Given the description of an element on the screen output the (x, y) to click on. 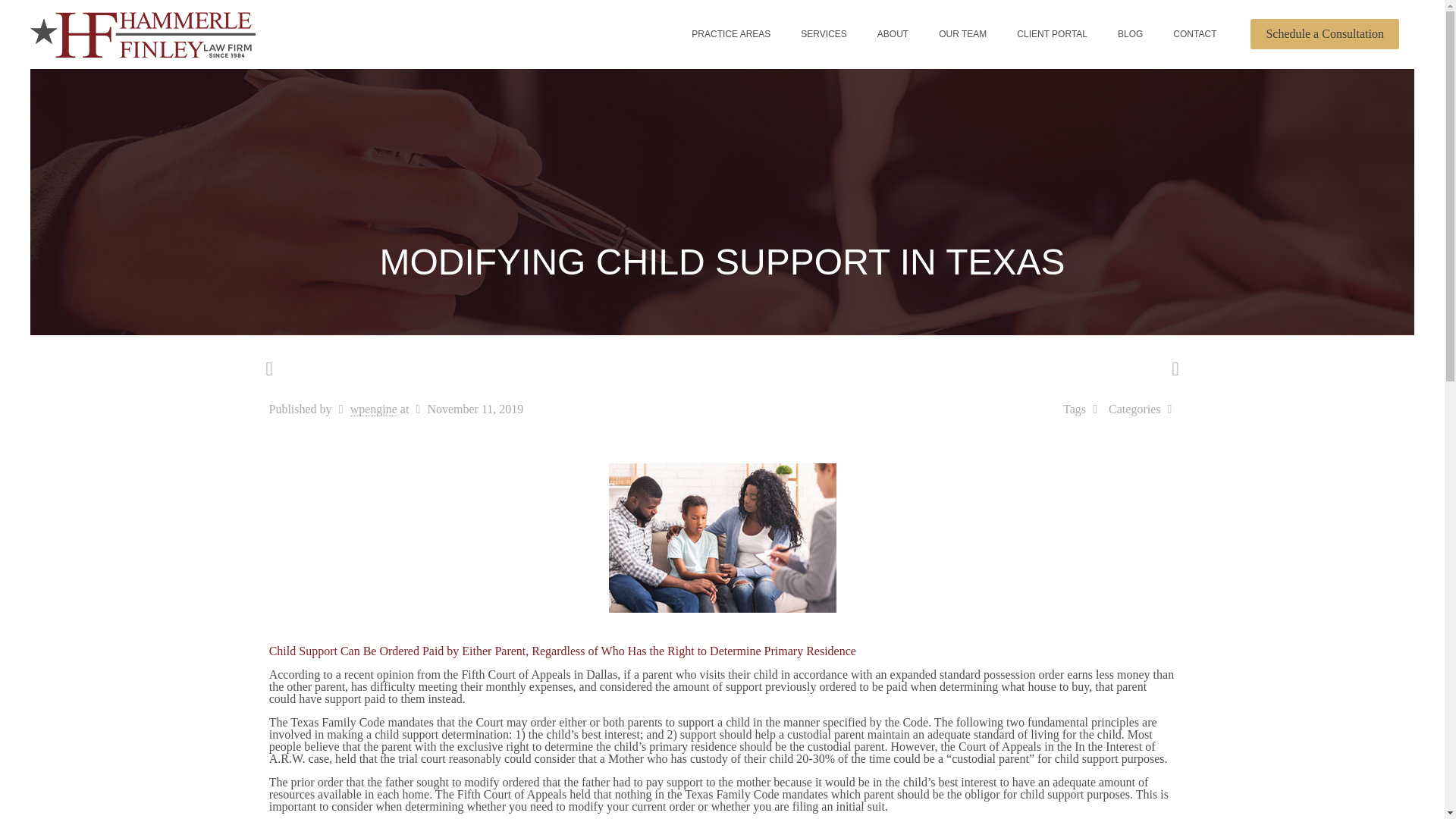
PRACTICE AREAS (731, 33)
Schedule a Consultation (1324, 33)
OUR TEAM (962, 33)
ABOUT (892, 33)
SERVICES (823, 33)
Hammerle Finley Law Firm (143, 33)
